Given the description of an element on the screen output the (x, y) to click on. 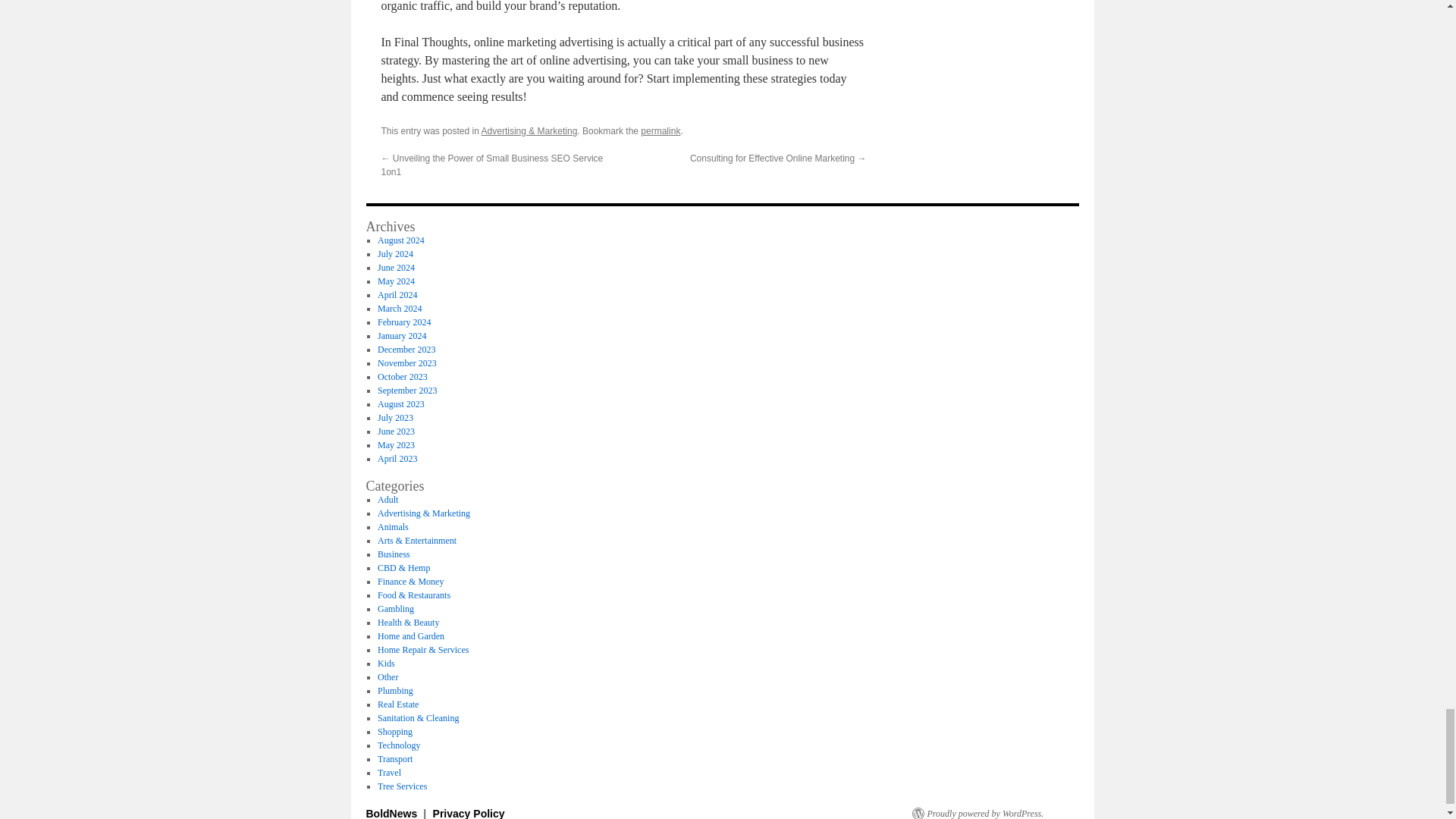
June 2024 (395, 267)
November 2023 (406, 362)
April 2024 (396, 294)
September 2023 (406, 389)
June 2023 (395, 430)
May 2024 (395, 281)
December 2023 (406, 348)
July 2023 (395, 417)
May 2023 (395, 444)
April 2023 (396, 458)
